Given the description of an element on the screen output the (x, y) to click on. 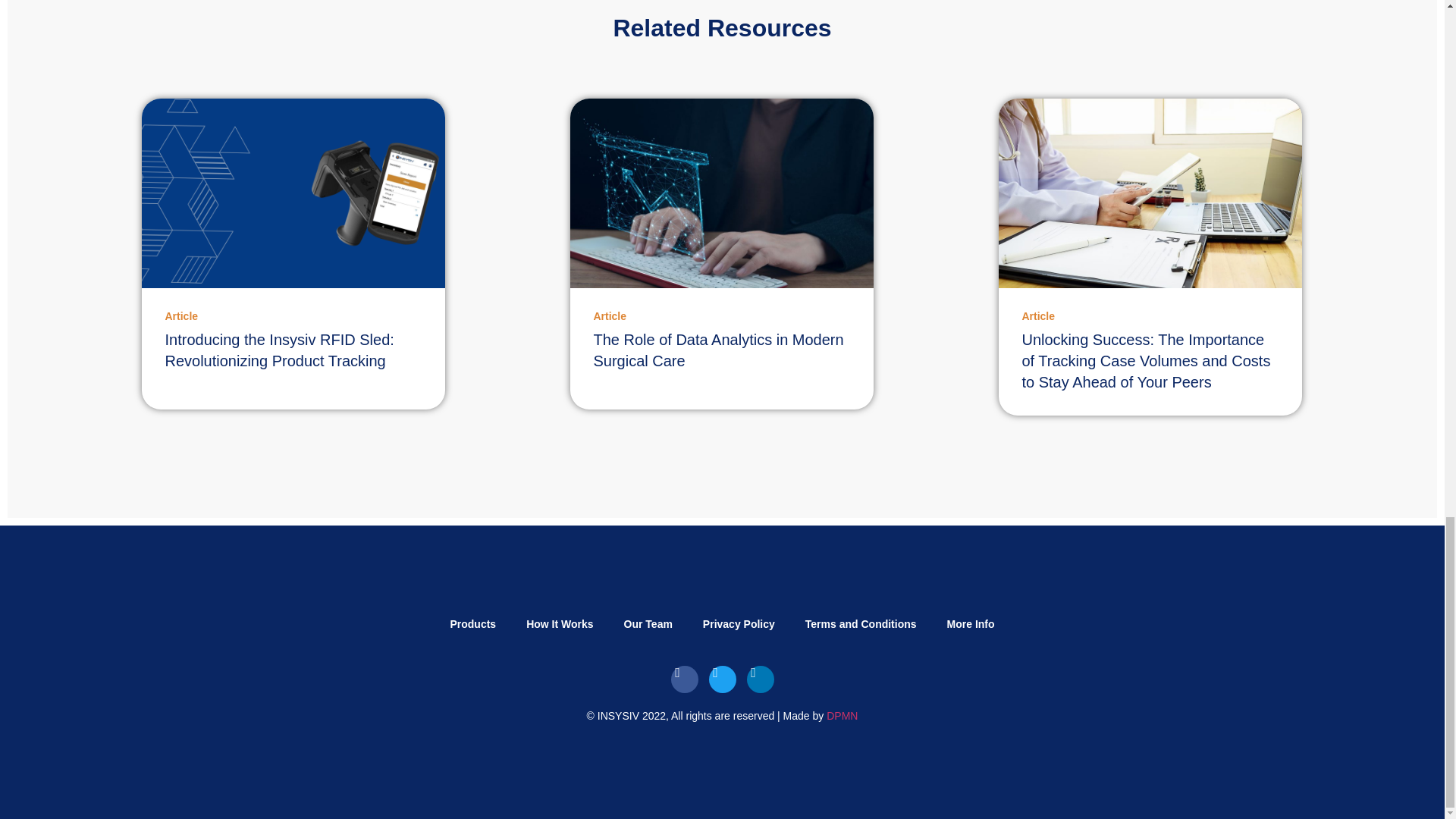
Terms and Conditions (860, 624)
Privacy Policy (738, 624)
The Role of Data Analytics in Modern Surgical Care (717, 350)
Products (472, 624)
How It Works (559, 624)
More Info (971, 624)
Our Team (648, 624)
